Given the description of an element on the screen output the (x, y) to click on. 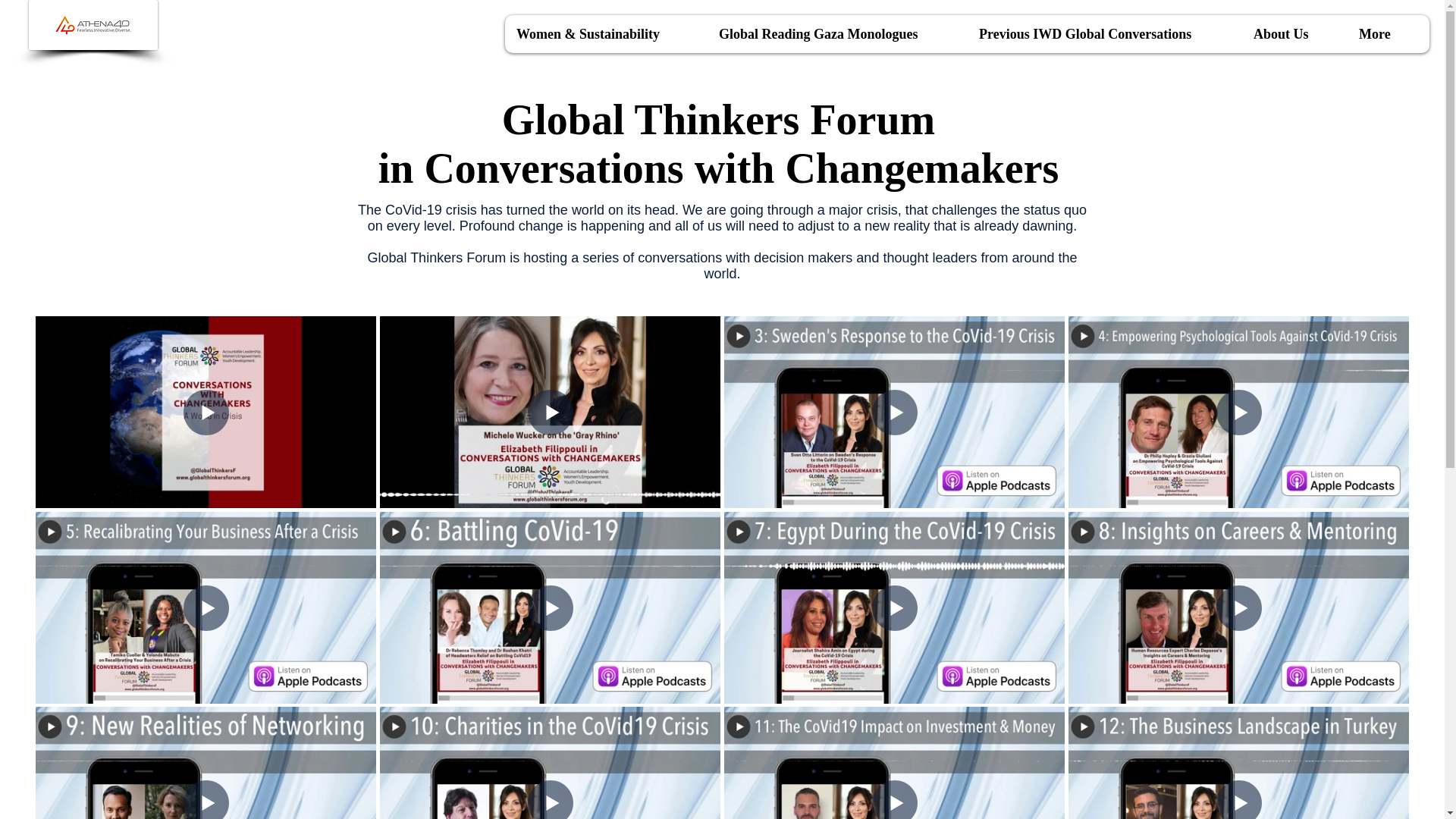
About Us (1293, 34)
Global Reading Gaza Monologues (836, 34)
Previous IWD Global Conversations (1103, 34)
